Given the description of an element on the screen output the (x, y) to click on. 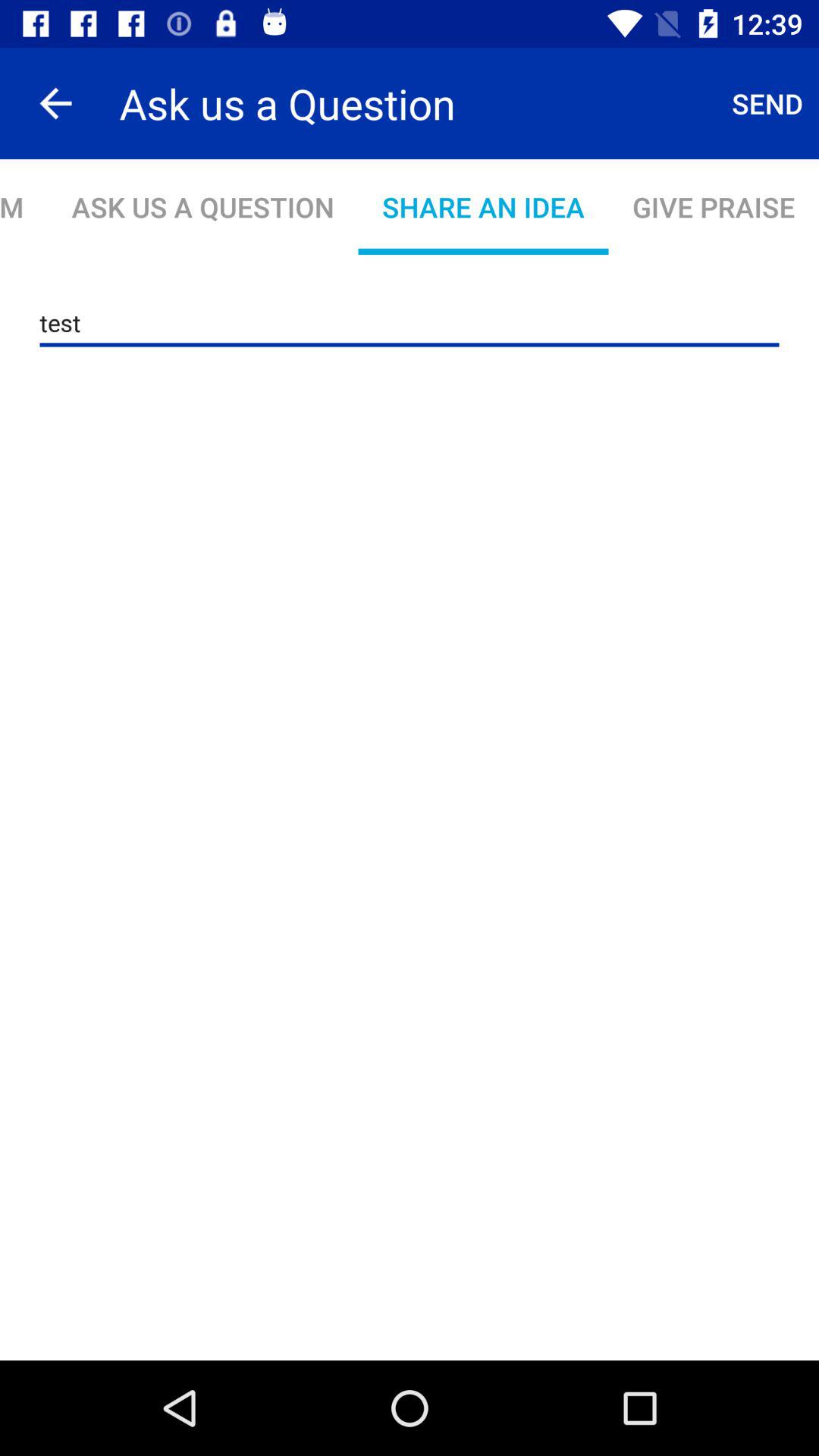
open the app next to the ask us a (55, 103)
